Given the description of an element on the screen output the (x, y) to click on. 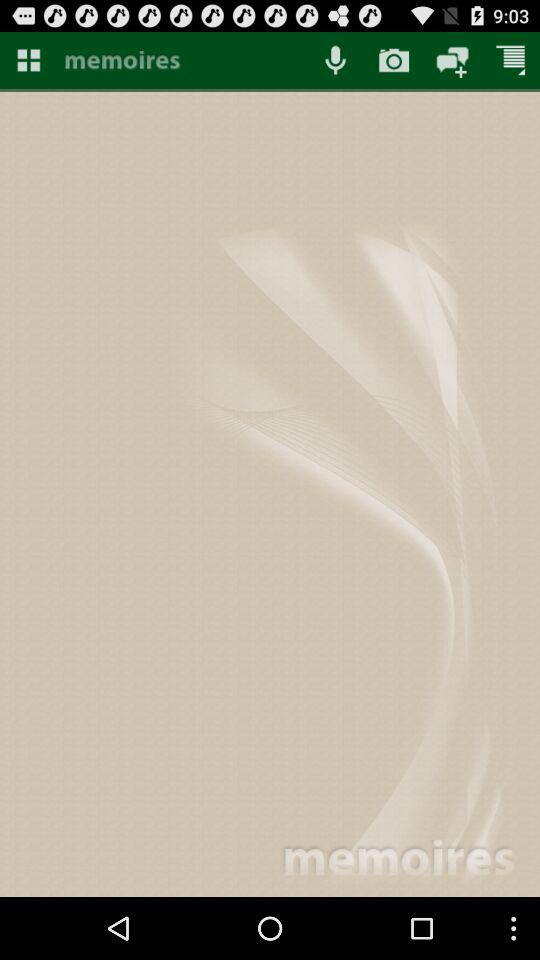
share photo (452, 60)
